Given the description of an element on the screen output the (x, y) to click on. 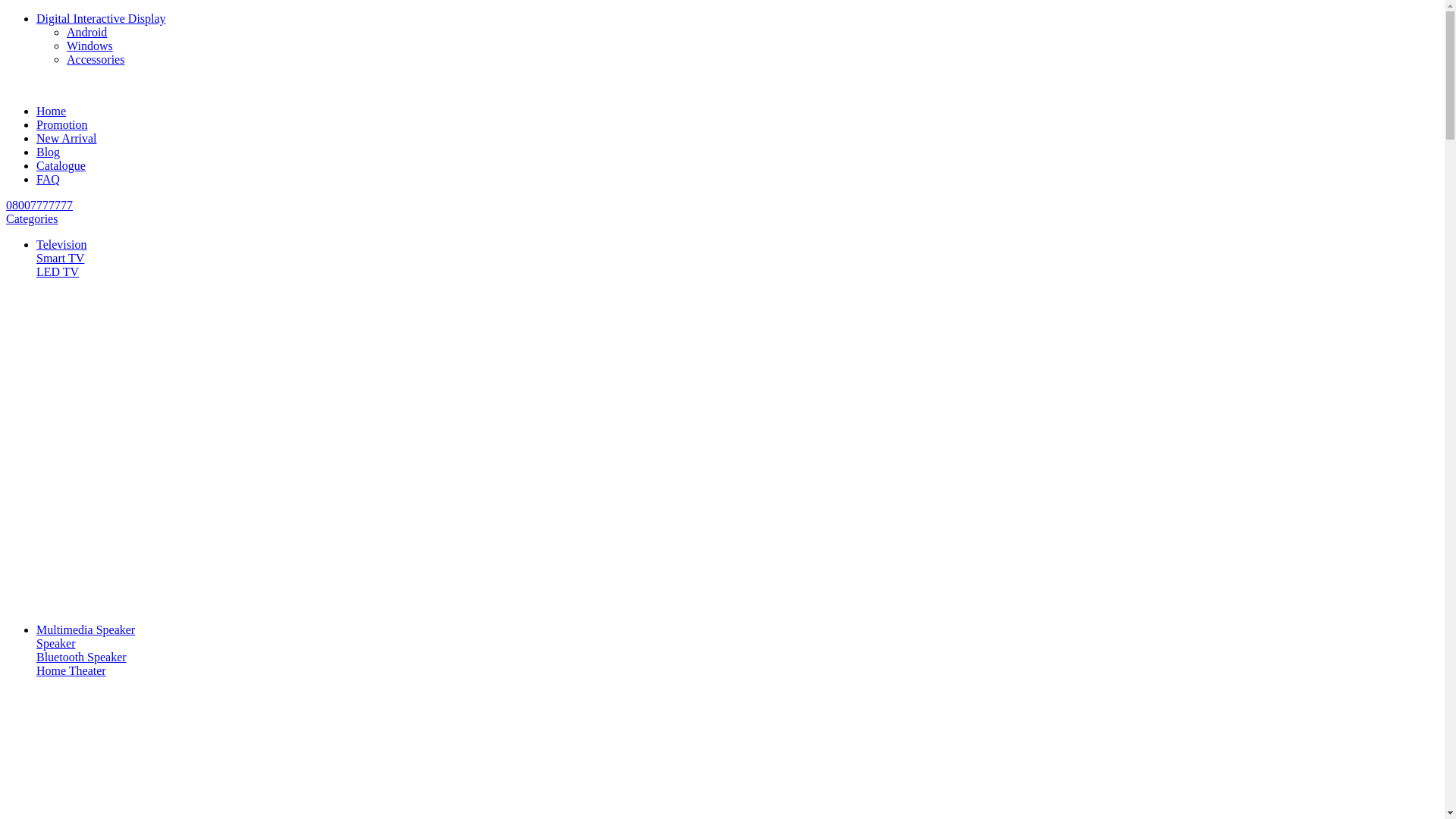
Promotion Element type: text (61, 124)
Smart TV Element type: text (60, 257)
Home Theater Element type: text (71, 670)
Digital Interactive Display Element type: text (101, 18)
Multimedia Speaker Element type: text (85, 629)
FAQ Element type: text (47, 178)
08007777777 Element type: text (39, 204)
LED TV Element type: text (57, 271)
Windows Element type: text (89, 45)
Television Element type: text (61, 244)
Bluetooth Speaker Element type: text (81, 656)
Catalogue Element type: text (60, 165)
Home Element type: text (50, 110)
Speaker Element type: text (55, 643)
Categories Element type: text (31, 218)
New Arrival Element type: text (66, 137)
Blog Element type: text (47, 151)
Accessories Element type: text (95, 59)
Android Element type: text (86, 31)
